Given the description of an element on the screen output the (x, y) to click on. 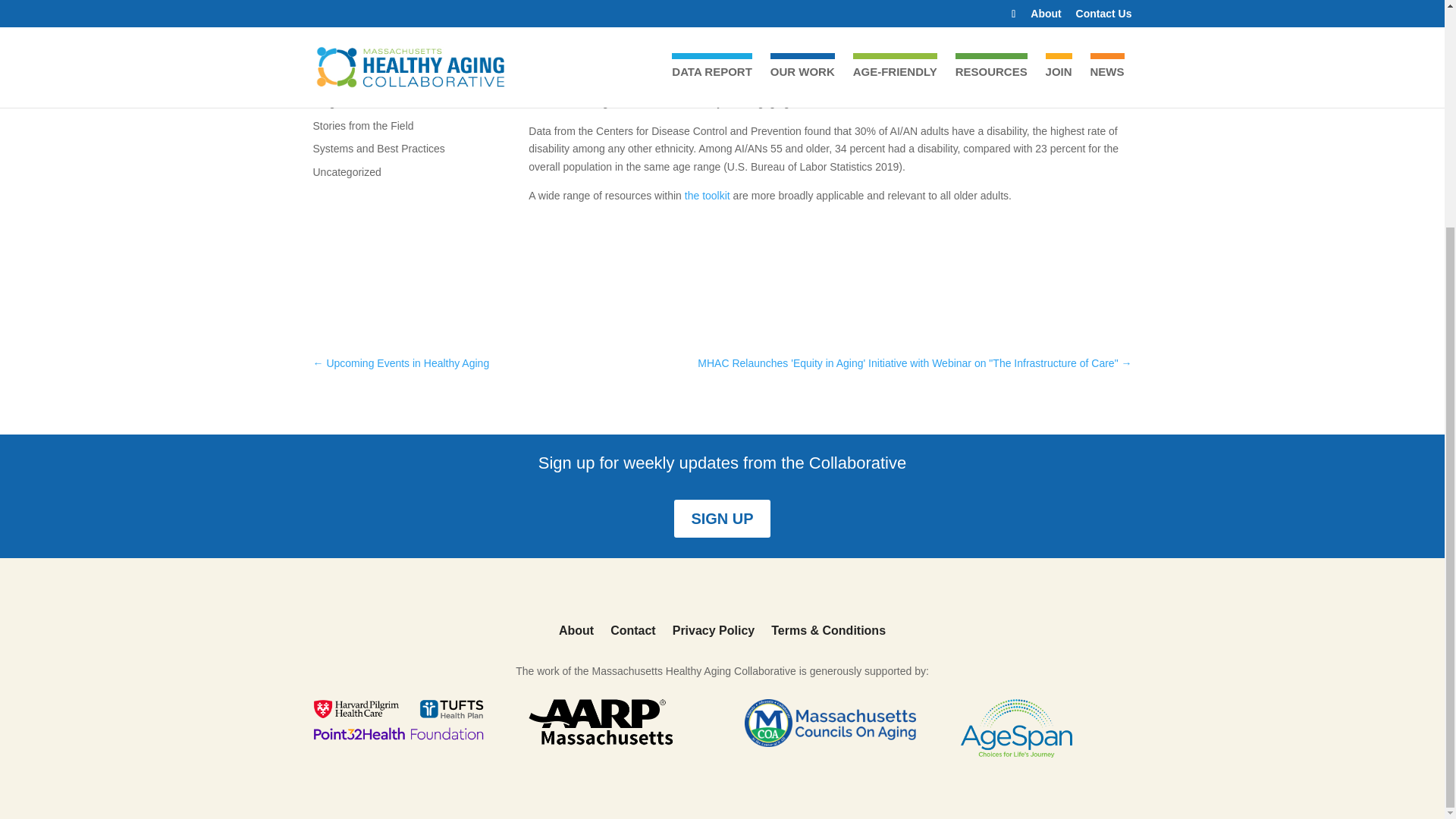
mcoa-logo-wide-2 (829, 722)
agespan (1015, 728)
Point32HealthFoundationLogo (398, 719)
